Given the description of an element on the screen output the (x, y) to click on. 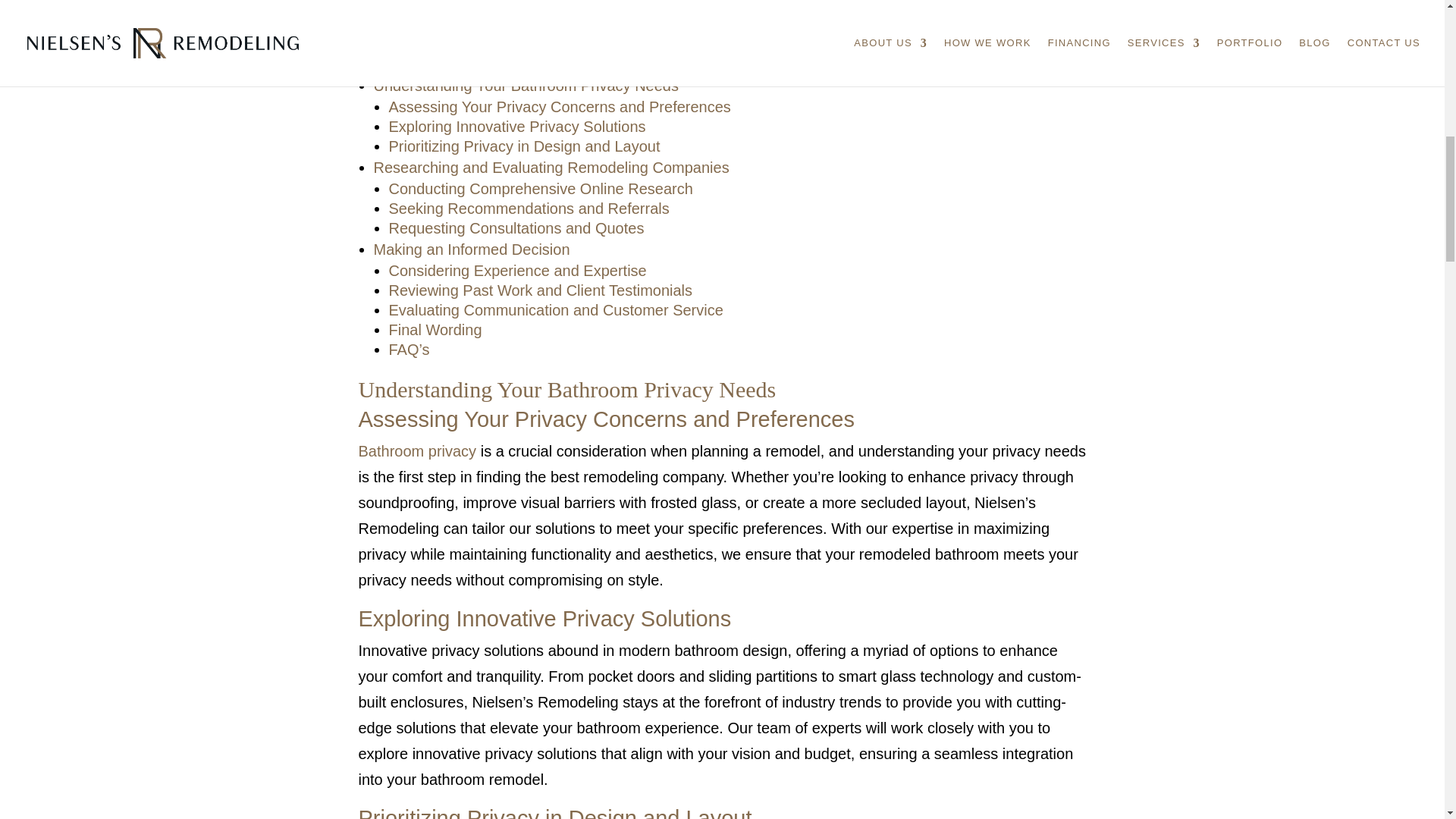
Conducting Comprehensive Online Research (540, 188)
Researching and Evaluating Remodeling Companies (550, 167)
Seeking Recommendations and Referrals (528, 208)
Exploring Innovative Privacy Solutions (516, 126)
Requesting Consultations and Quotes (515, 228)
Assessing Your Privacy Concerns and Preferences (559, 106)
Making an Informed Decision (470, 248)
Prioritizing Privacy in Design and Layout (523, 146)
Understanding Your Bathroom Privacy Needs (525, 85)
